Given the description of an element on the screen output the (x, y) to click on. 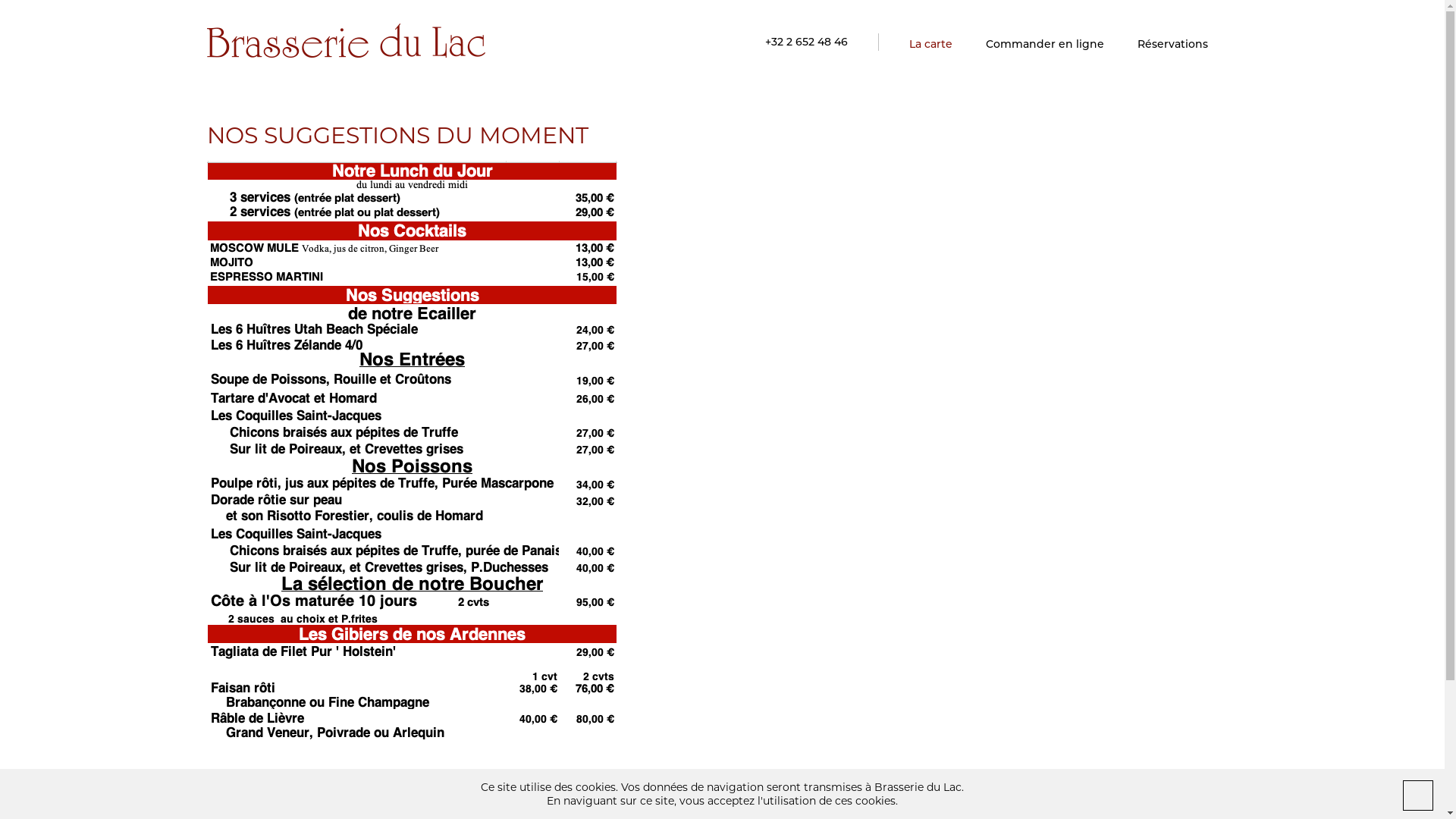
Commander en ligne Element type: text (1044, 43)
La carte Element type: text (929, 43)
Brasserie du Lac Element type: hover (345, 39)
